Given the description of an element on the screen output the (x, y) to click on. 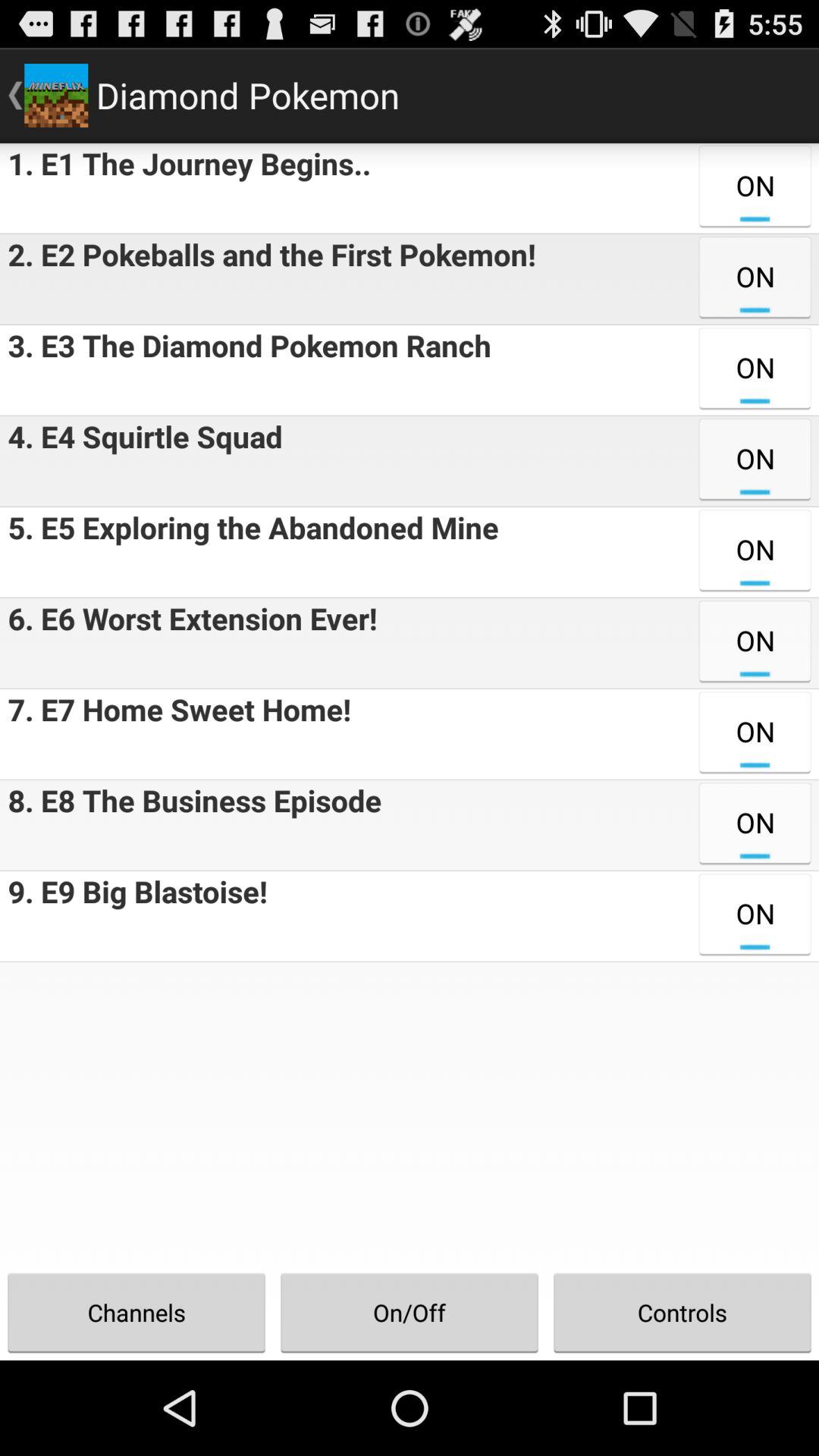
select the app above the 4 e4 squirtle app (245, 370)
